Given the description of an element on the screen output the (x, y) to click on. 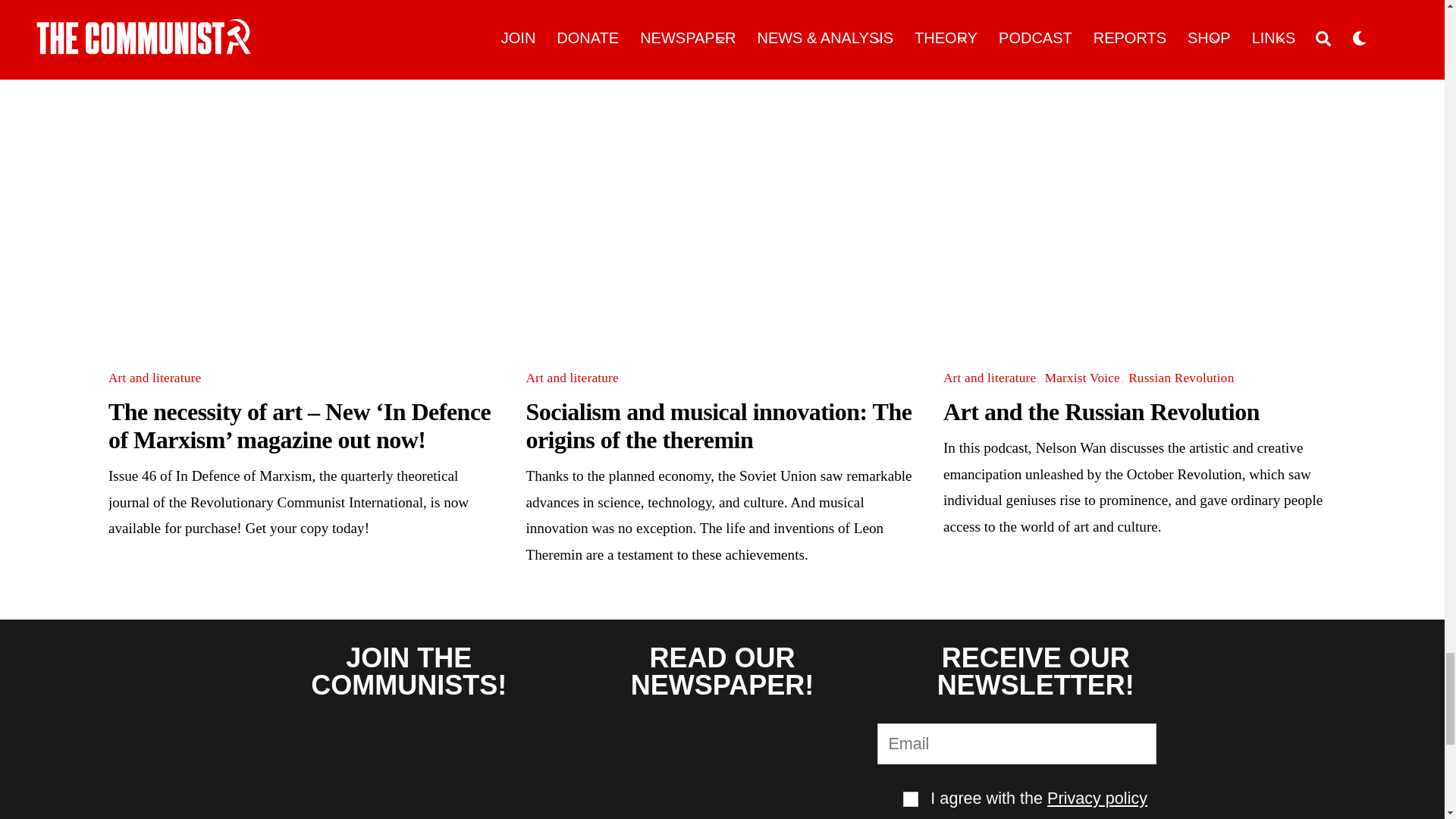
Terms and conditions (910, 798)
Privacy policy (1096, 797)
on (910, 798)
